Given the description of an element on the screen output the (x, y) to click on. 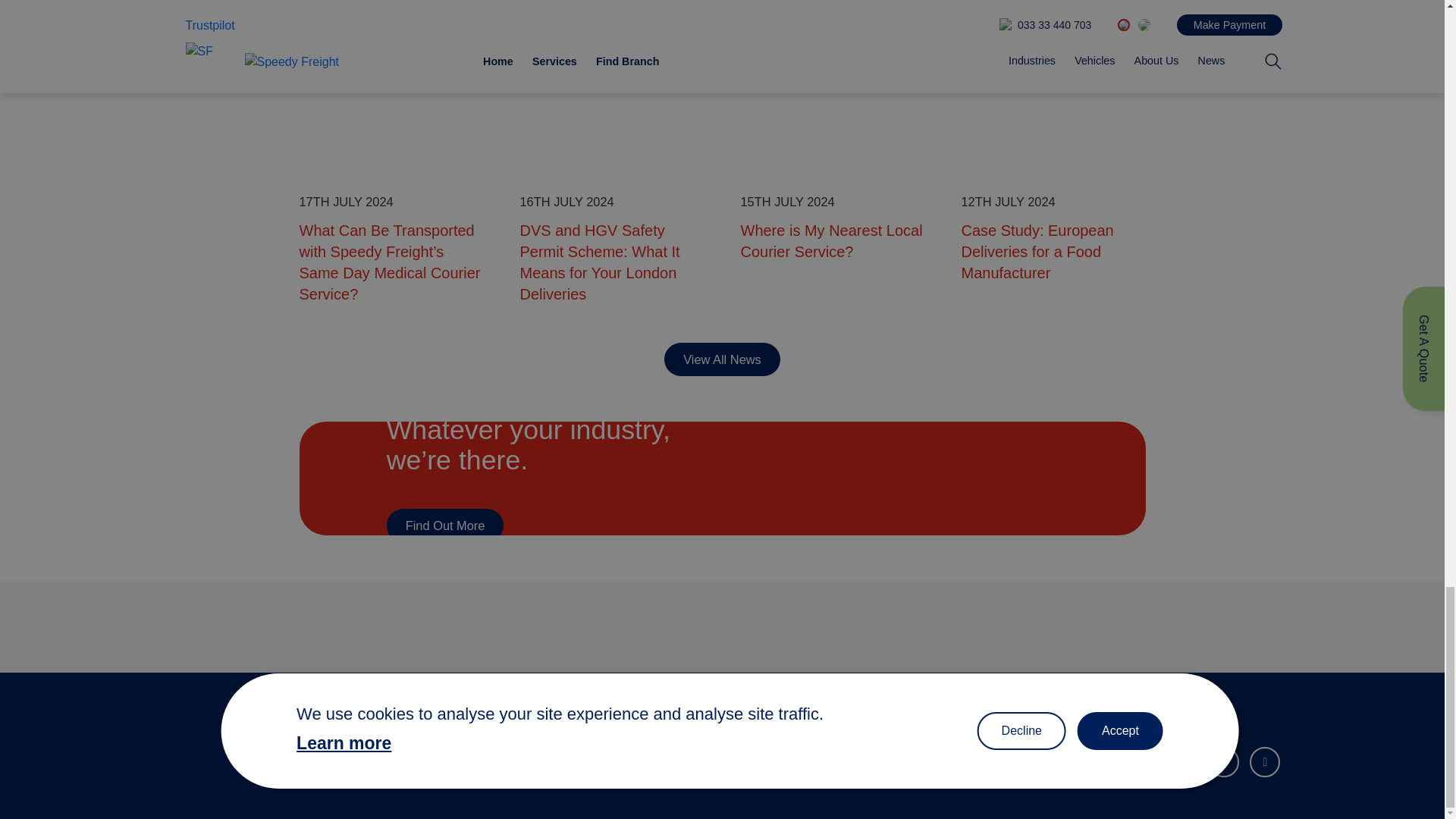
Instagram (1223, 761)
Facebook (1182, 761)
LinkedIn (1099, 761)
Youtube (1264, 761)
x-twitter (1141, 761)
